Given the description of an element on the screen output the (x, y) to click on. 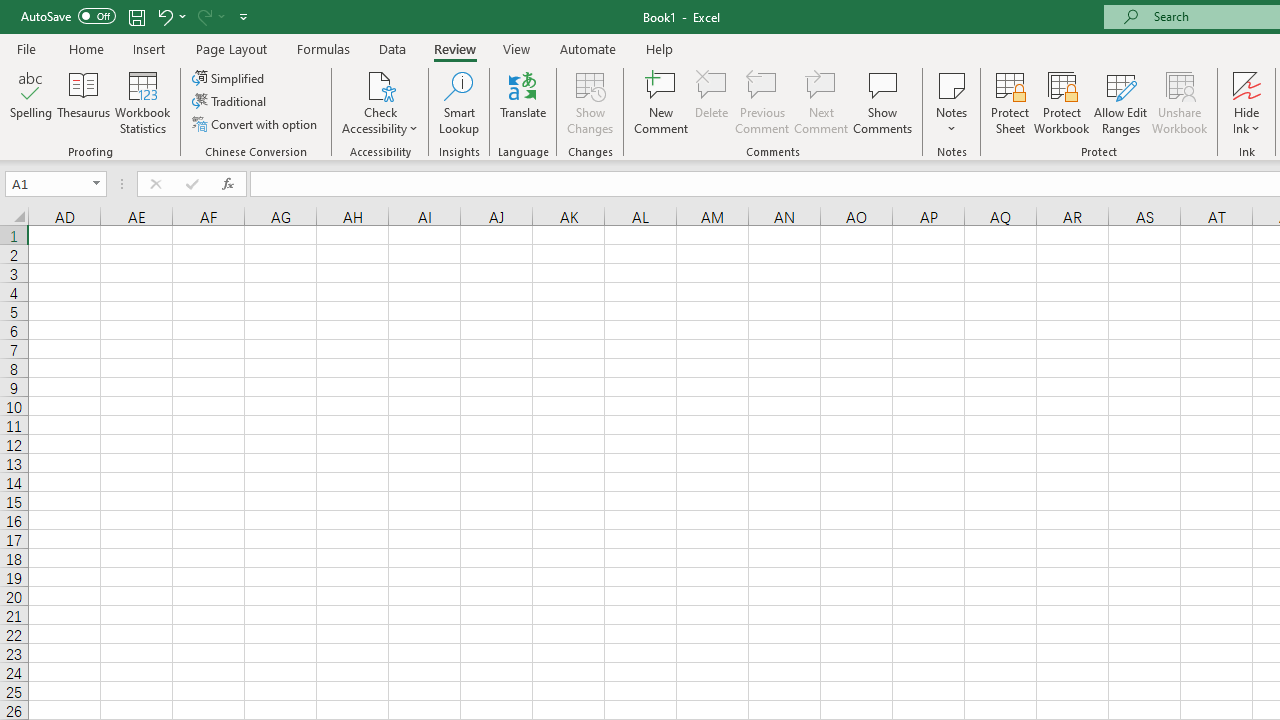
Spelling... (31, 102)
Smart Lookup (459, 102)
